Given the description of an element on the screen output the (x, y) to click on. 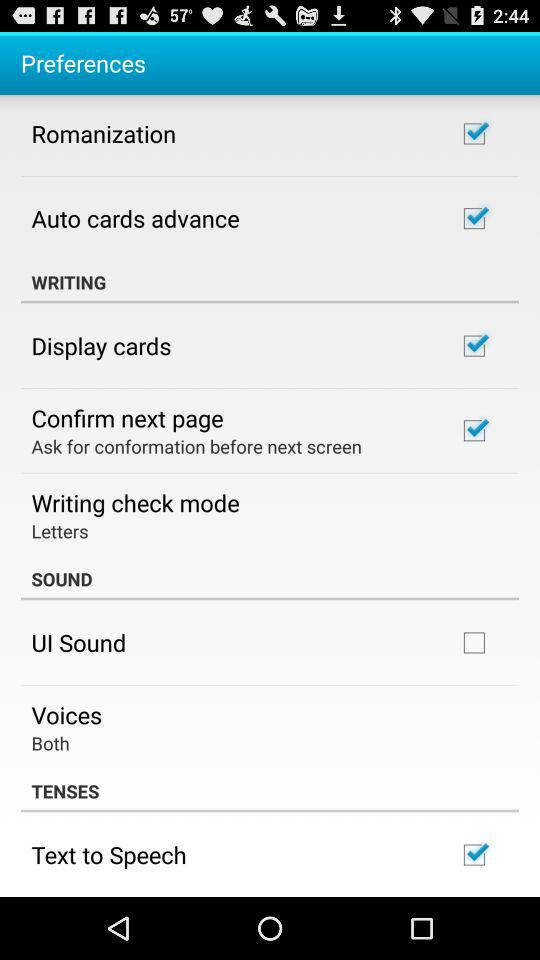
choose both icon (50, 742)
